Given the description of an element on the screen output the (x, y) to click on. 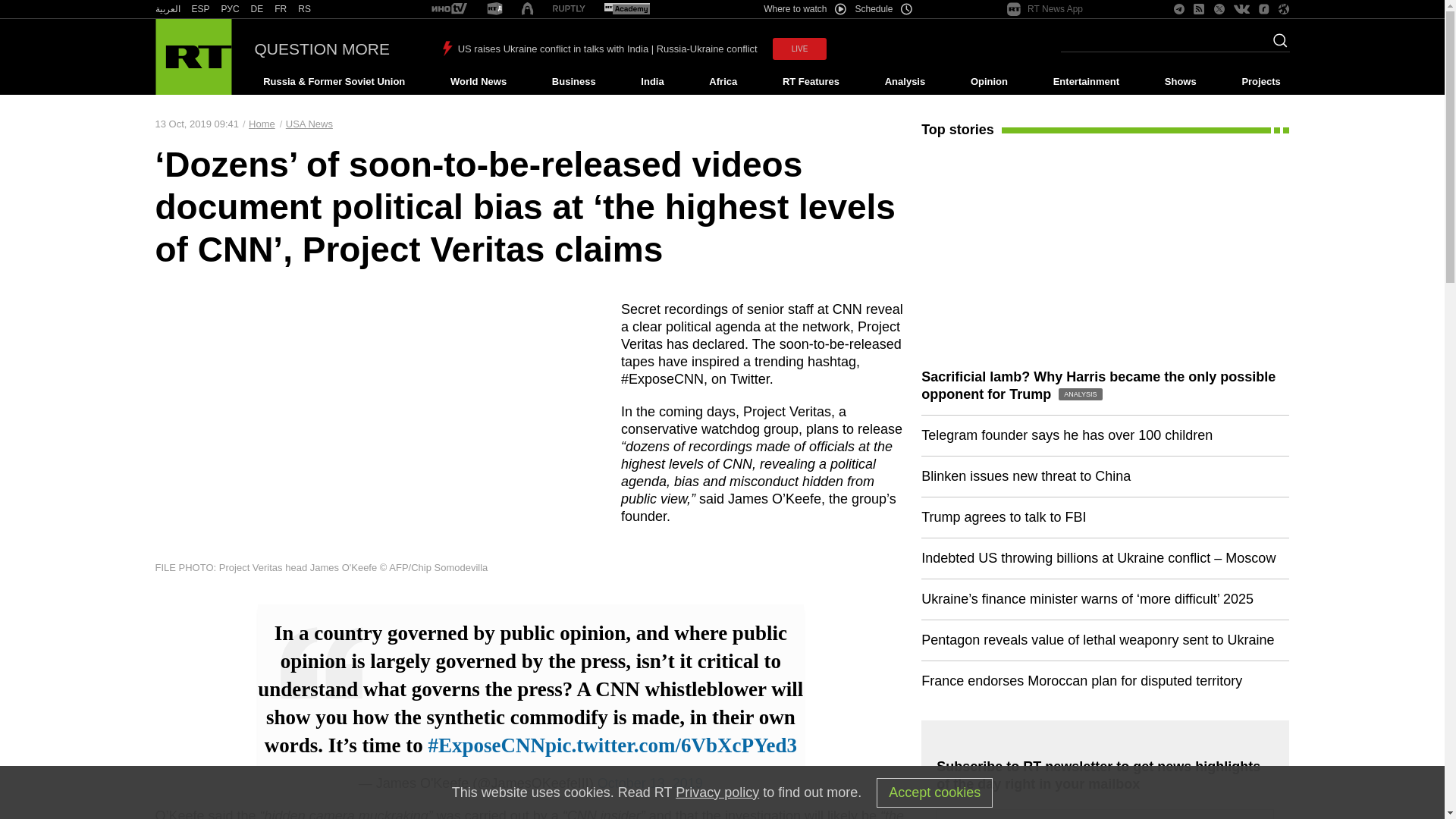
RT  (569, 8)
Entertainment (1085, 81)
Where to watch (803, 9)
Search (1276, 44)
RT  (494, 9)
RT  (280, 9)
RT  (304, 9)
RS (304, 9)
RT  (256, 9)
RT Features (810, 81)
India (651, 81)
Africa (722, 81)
RT  (199, 9)
ESP (199, 9)
LIVE (800, 48)
